Given the description of an element on the screen output the (x, y) to click on. 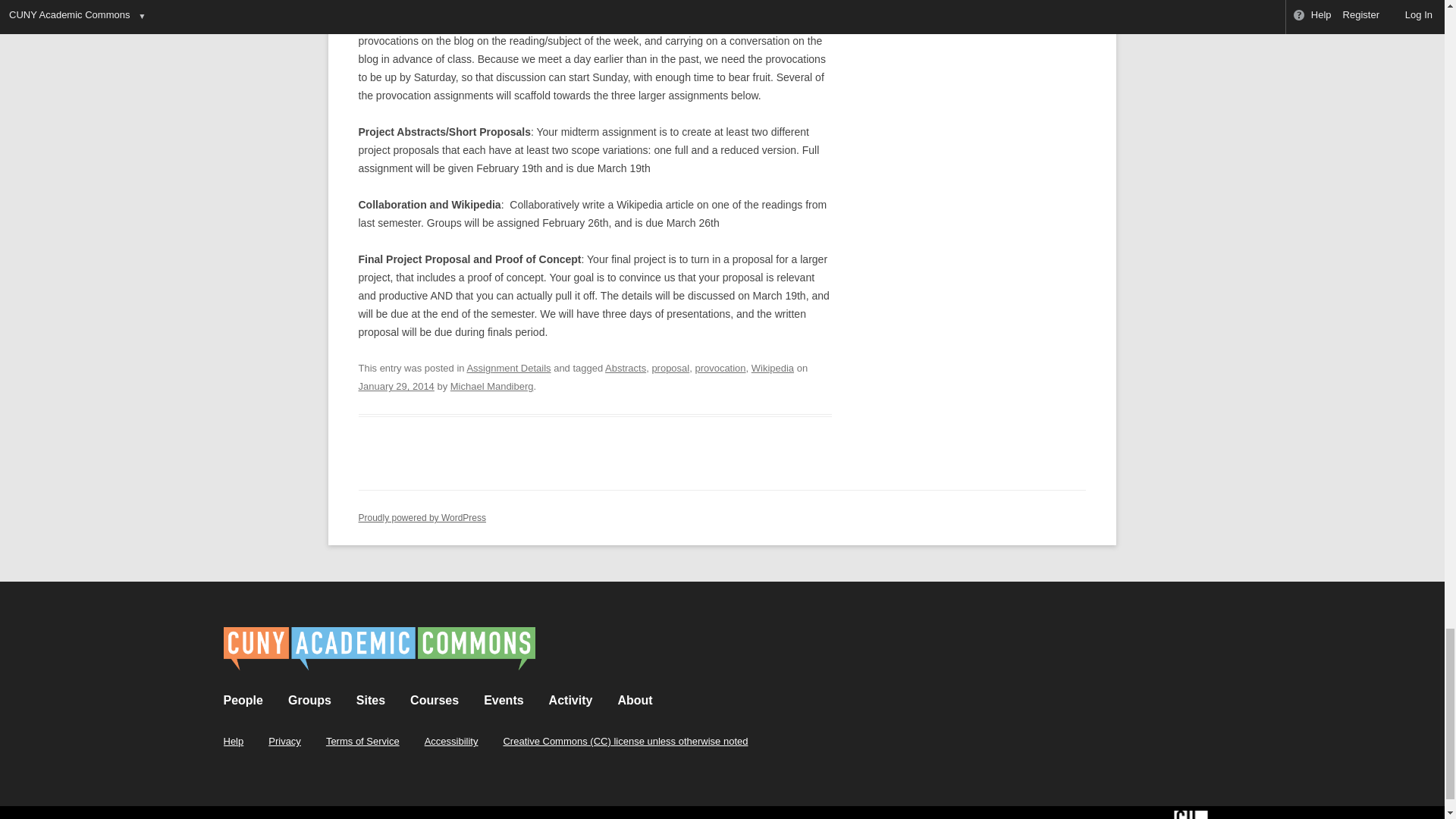
1:26 pm (395, 386)
Semantic Personal Publishing Platform (422, 517)
View all posts by Michael Mandiberg (491, 386)
